Given the description of an element on the screen output the (x, y) to click on. 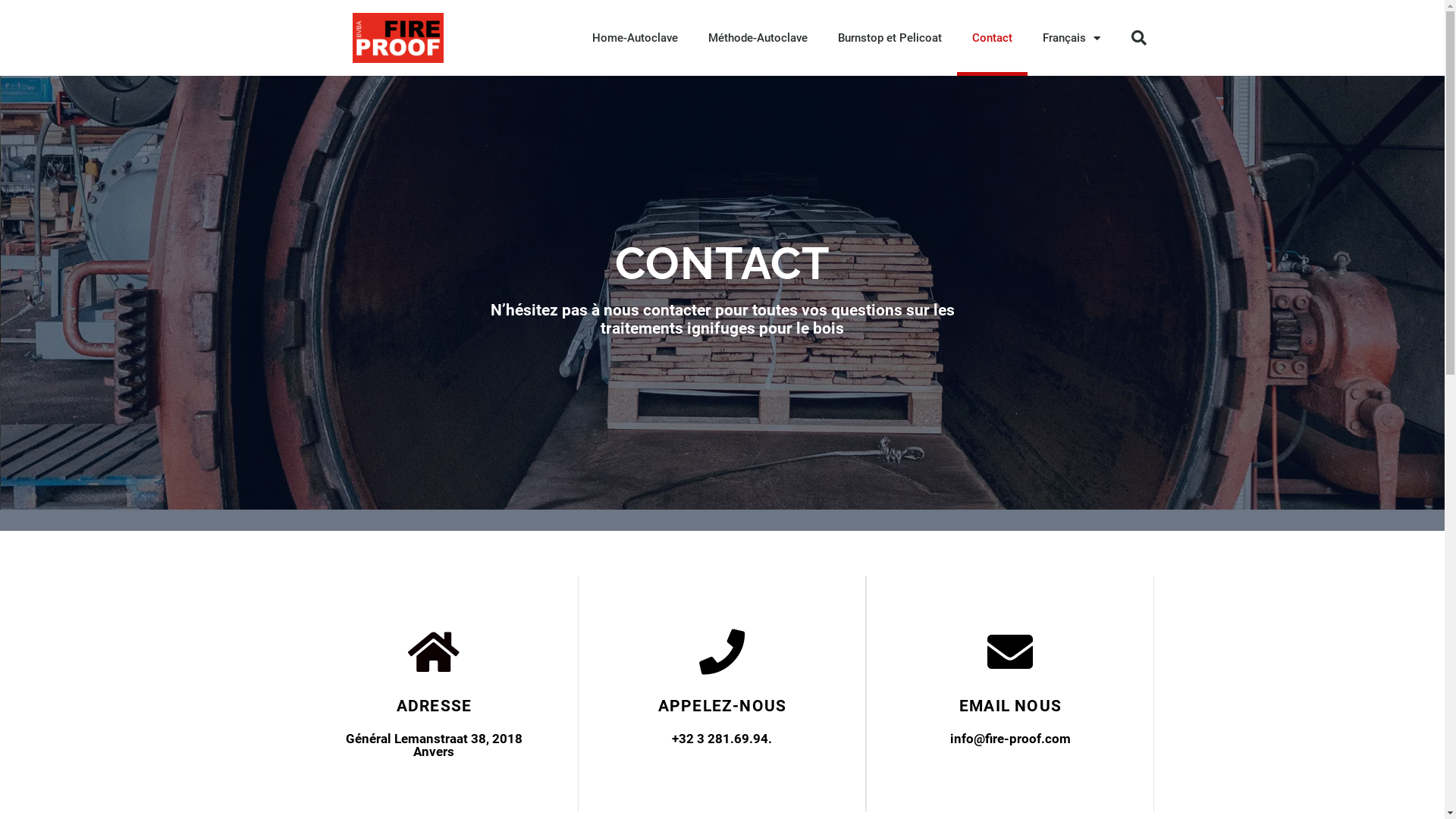
Home-Autoclave Element type: text (634, 37)
Contact Element type: text (992, 37)
info@fire-proof.com Element type: text (1010, 738)
+32 3 281.69.94. Element type: text (721, 738)
Burnstop et Pelicoat Element type: text (889, 37)
